Given the description of an element on the screen output the (x, y) to click on. 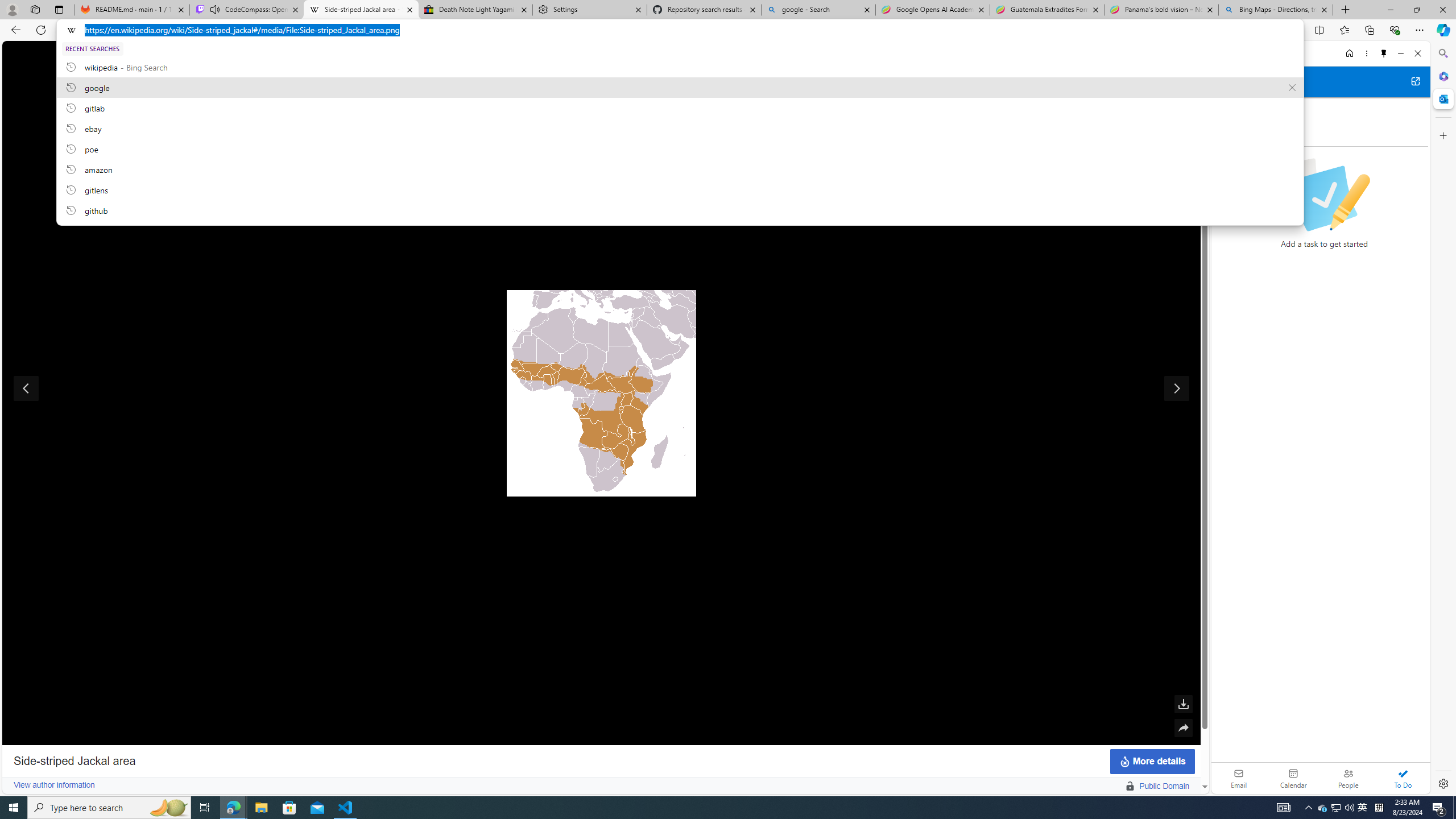
View author information (53, 784)
Show in full screen (1183, 81)
Side-striped Jackal area - Side-striped jackal - Wikipedia (360, 9)
amazon, recent searches from history (679, 168)
